Given the description of an element on the screen output the (x, y) to click on. 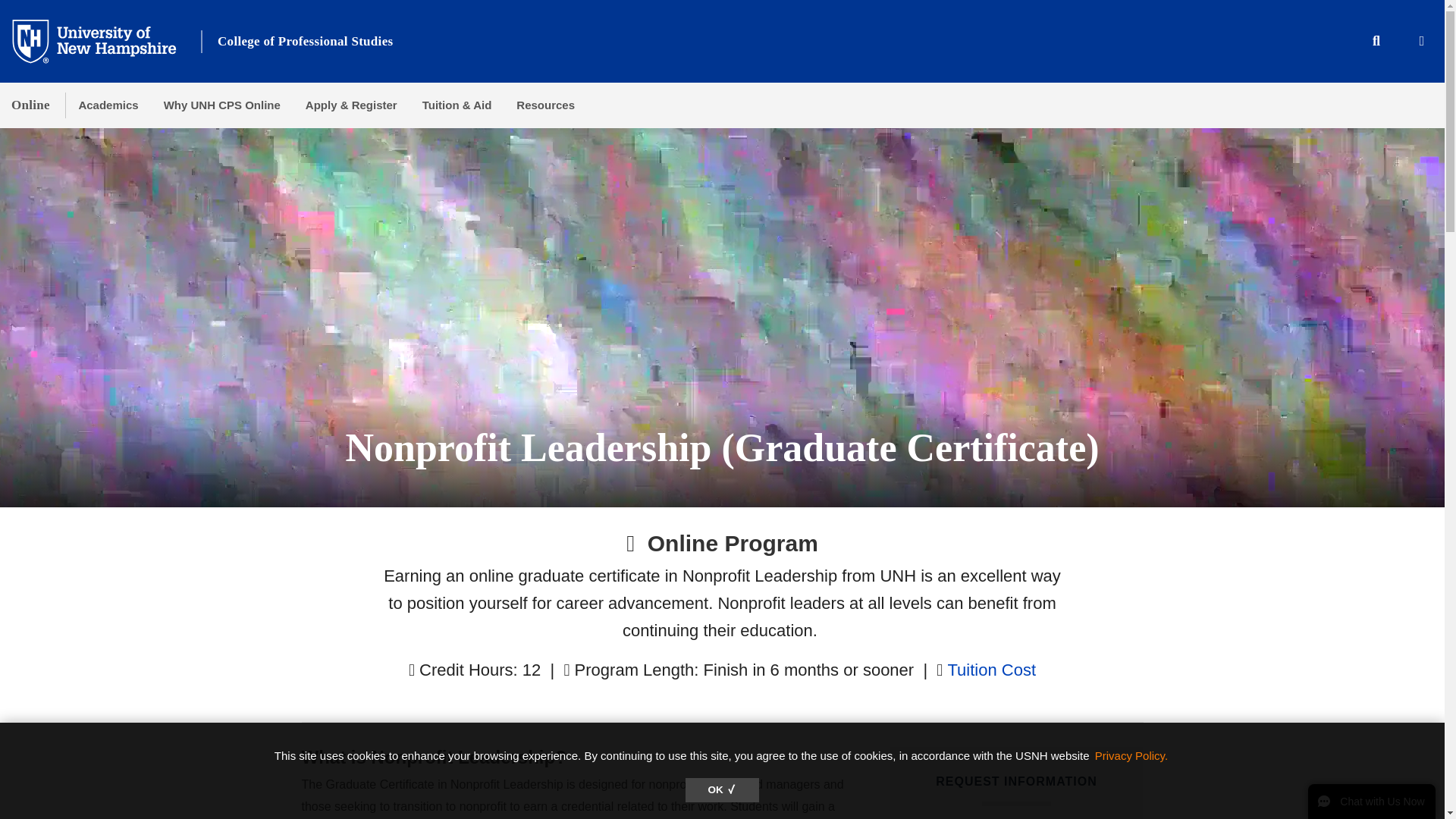
University of New Hampshire (105, 40)
Academics (108, 104)
Privacy Policy. (1131, 755)
College of Professional Studies (304, 41)
Why UNH CPS Online (221, 104)
Online (30, 104)
